Given the description of an element on the screen output the (x, y) to click on. 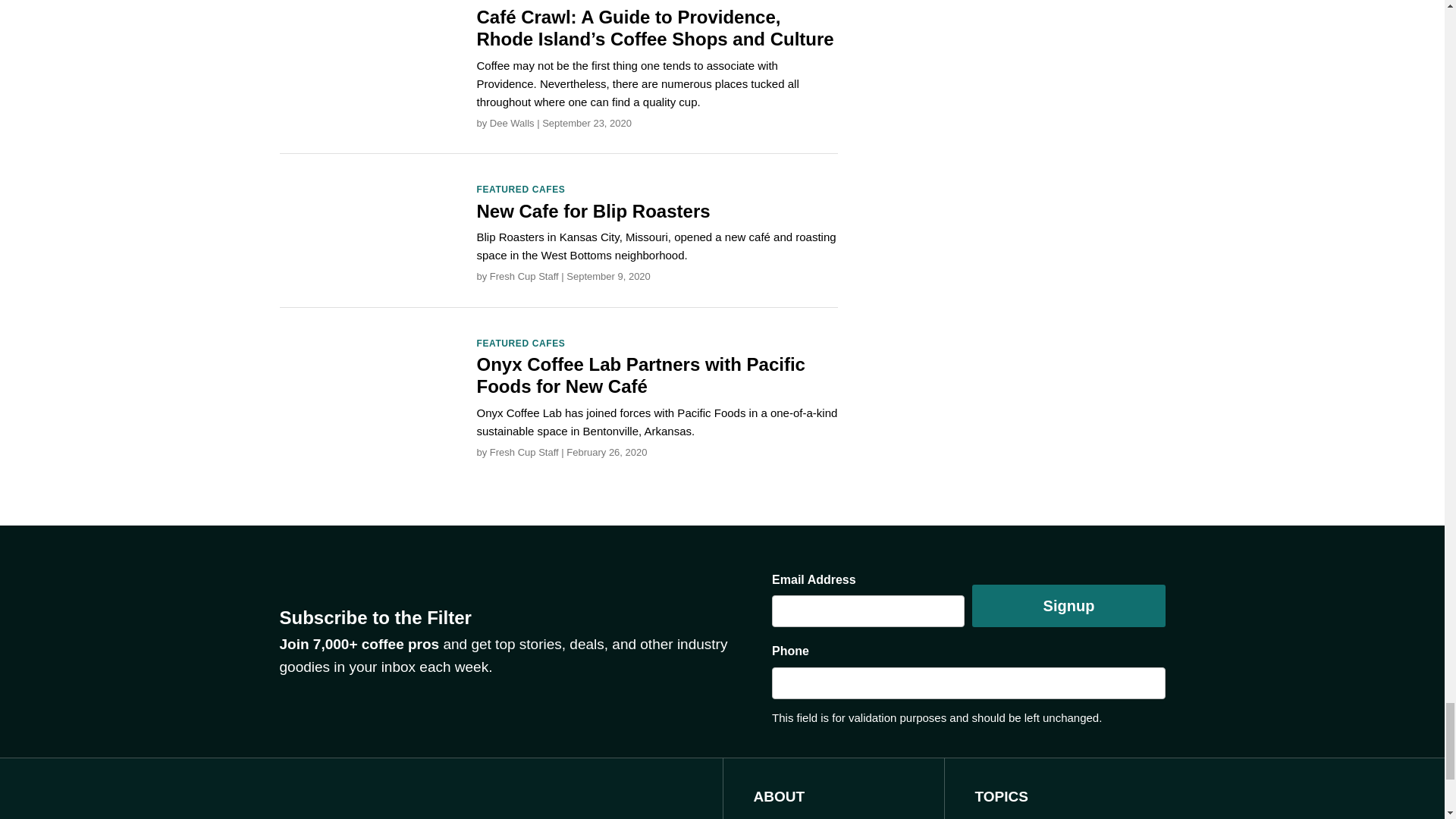
Signup (1068, 605)
